Given the description of an element on the screen output the (x, y) to click on. 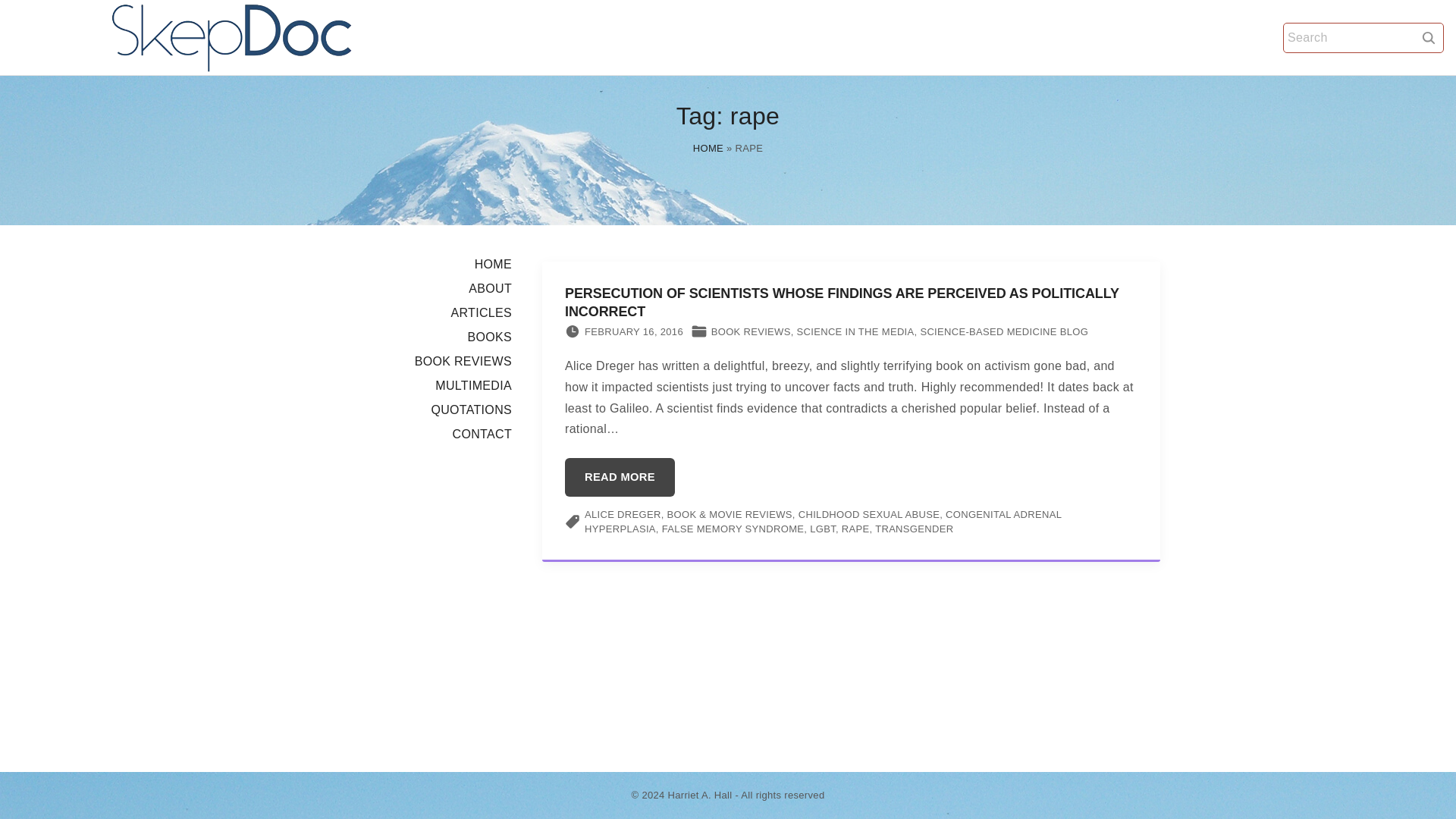
BOOKS (489, 336)
BOOK REVIEWS (750, 331)
SEARCH (1428, 36)
SCIENCE IN THE MEDIA (855, 331)
CHILDHOOD SEXUAL ABUSE (868, 514)
SCIENCE-BASED MEDICINE BLOG (1003, 331)
FEBRUARY 16, 2016 (633, 331)
HOME (708, 147)
ARTICLES (480, 312)
MULTIMEDIA (473, 385)
CONTACT (482, 433)
ABOUT (490, 287)
CONGENITAL ADRENAL HYPERPLASIA (823, 521)
